Given the description of an element on the screen output the (x, y) to click on. 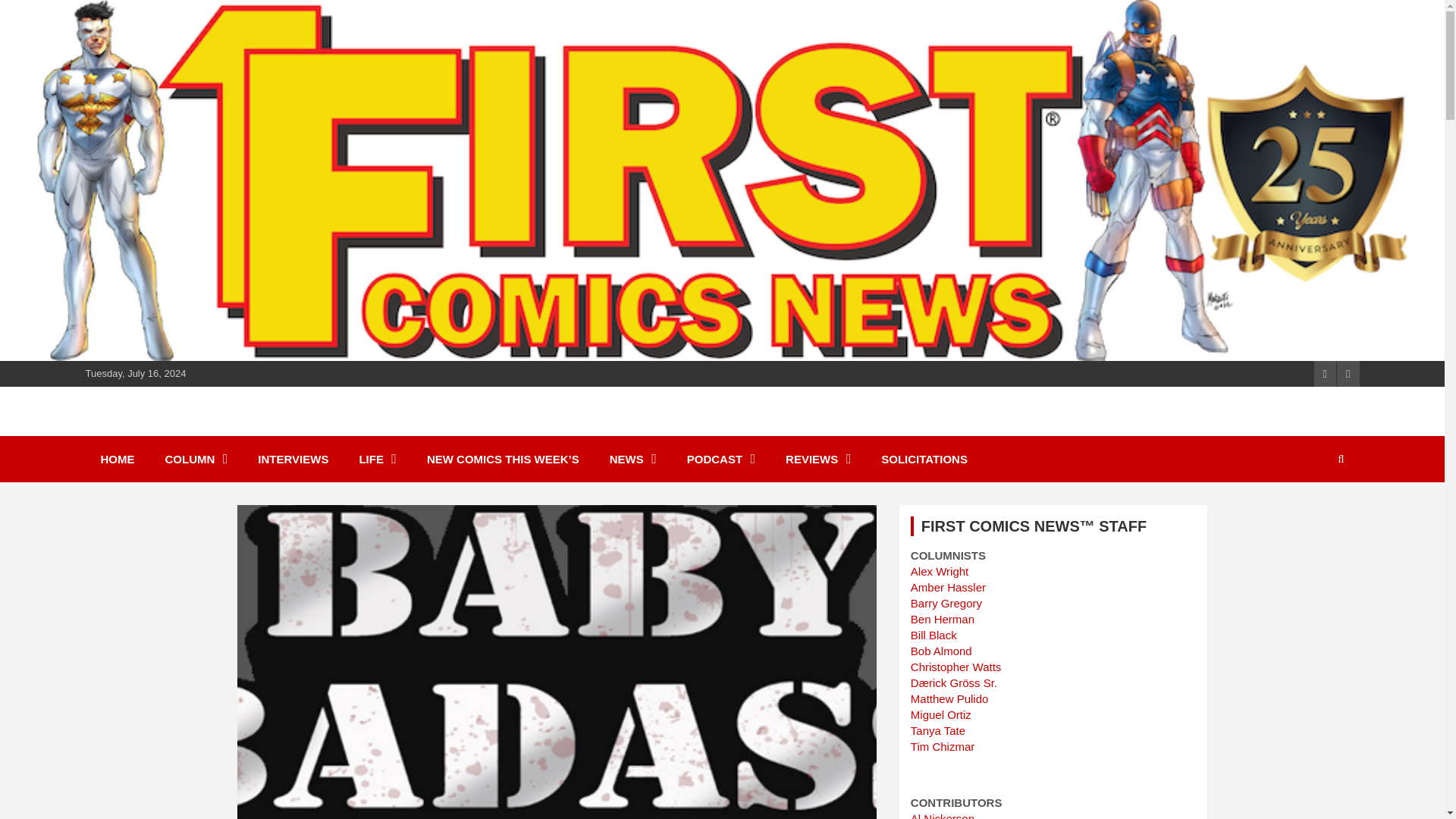
REVIEWS (818, 458)
INTERVIEWS (293, 458)
PODCAST (720, 458)
HOME (116, 458)
LIFE (377, 458)
COLUMN (196, 458)
First Comics News (220, 428)
NEWS (632, 458)
